Given the description of an element on the screen output the (x, y) to click on. 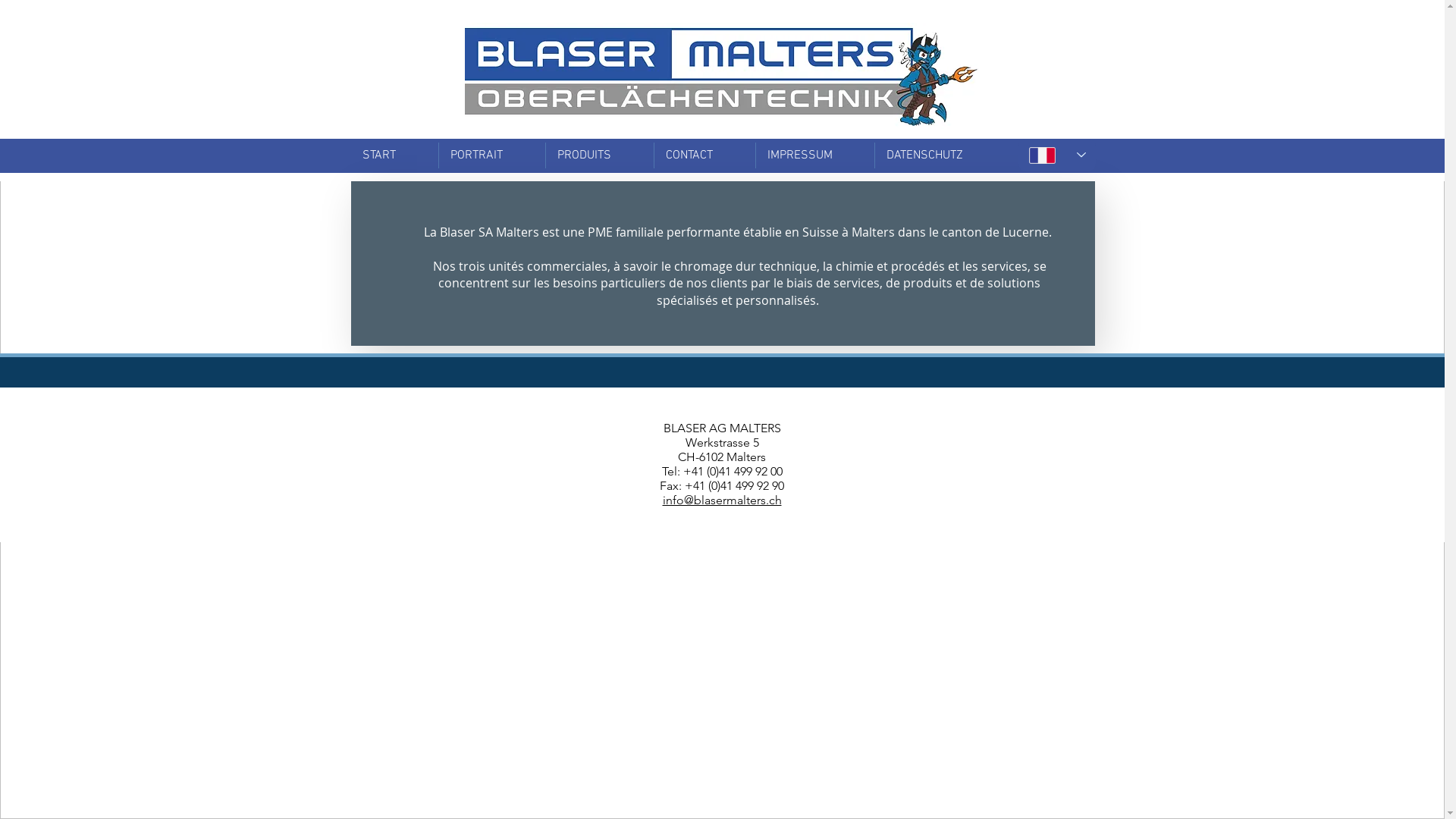
CONTACT Element type: text (703, 155)
DATENSCHUTZ Element type: text (939, 155)
IMPRESSUM Element type: text (814, 155)
logo-blaser-ag.jpg Element type: hover (722, 76)
info@blasermalters.ch Element type: text (721, 499)
PORTRAIT Element type: text (491, 155)
START Element type: text (393, 155)
PRODUITS Element type: text (599, 155)
